Given the description of an element on the screen output the (x, y) to click on. 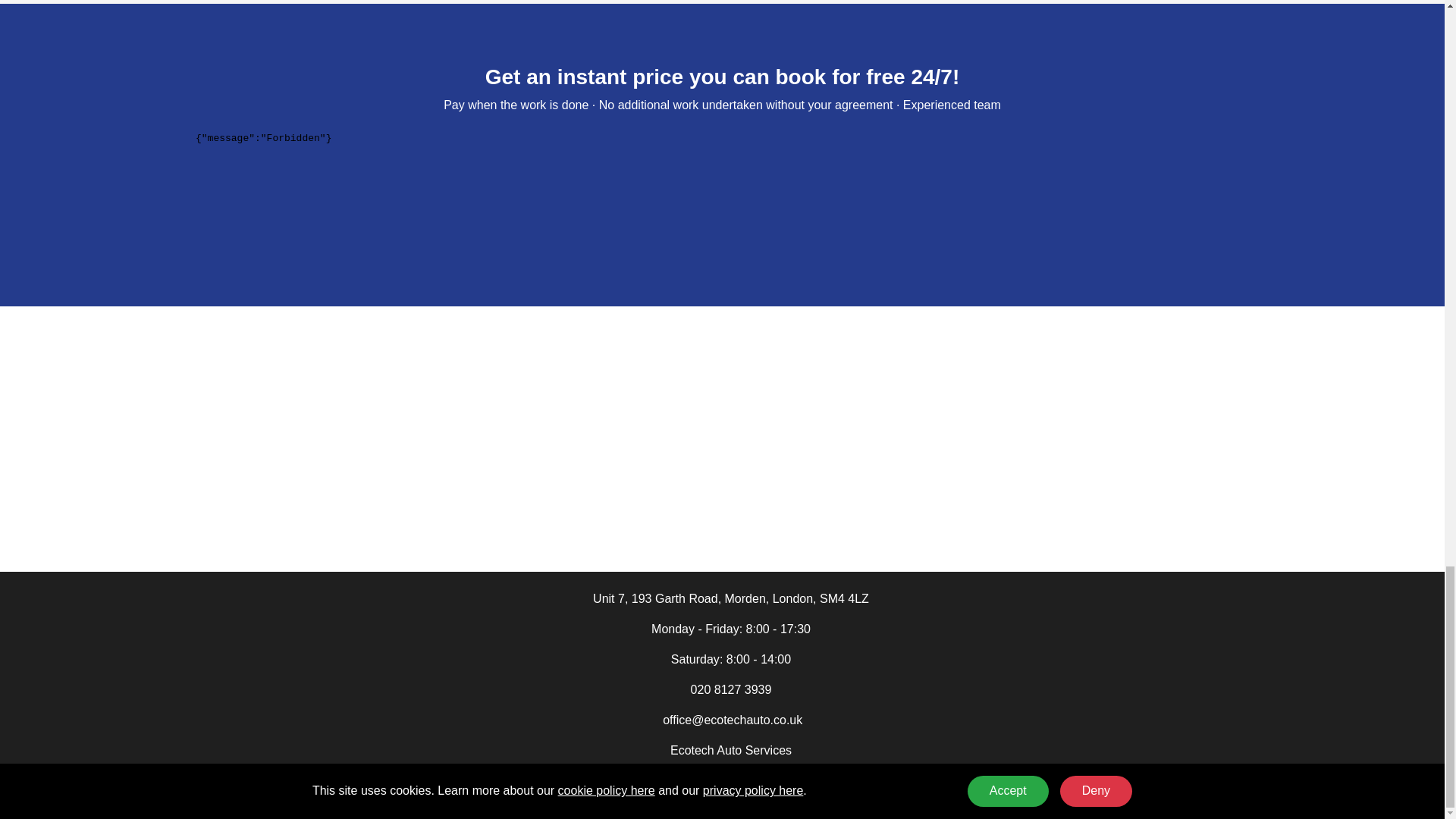
Privacy Policy (938, 804)
020 8127 3939 (730, 689)
Terms and Conditions (844, 804)
Booking Widget (722, 183)
Sitemap (998, 804)
Ecotech Auto Services (730, 749)
Cookie Policy (753, 804)
